Given the description of an element on the screen output the (x, y) to click on. 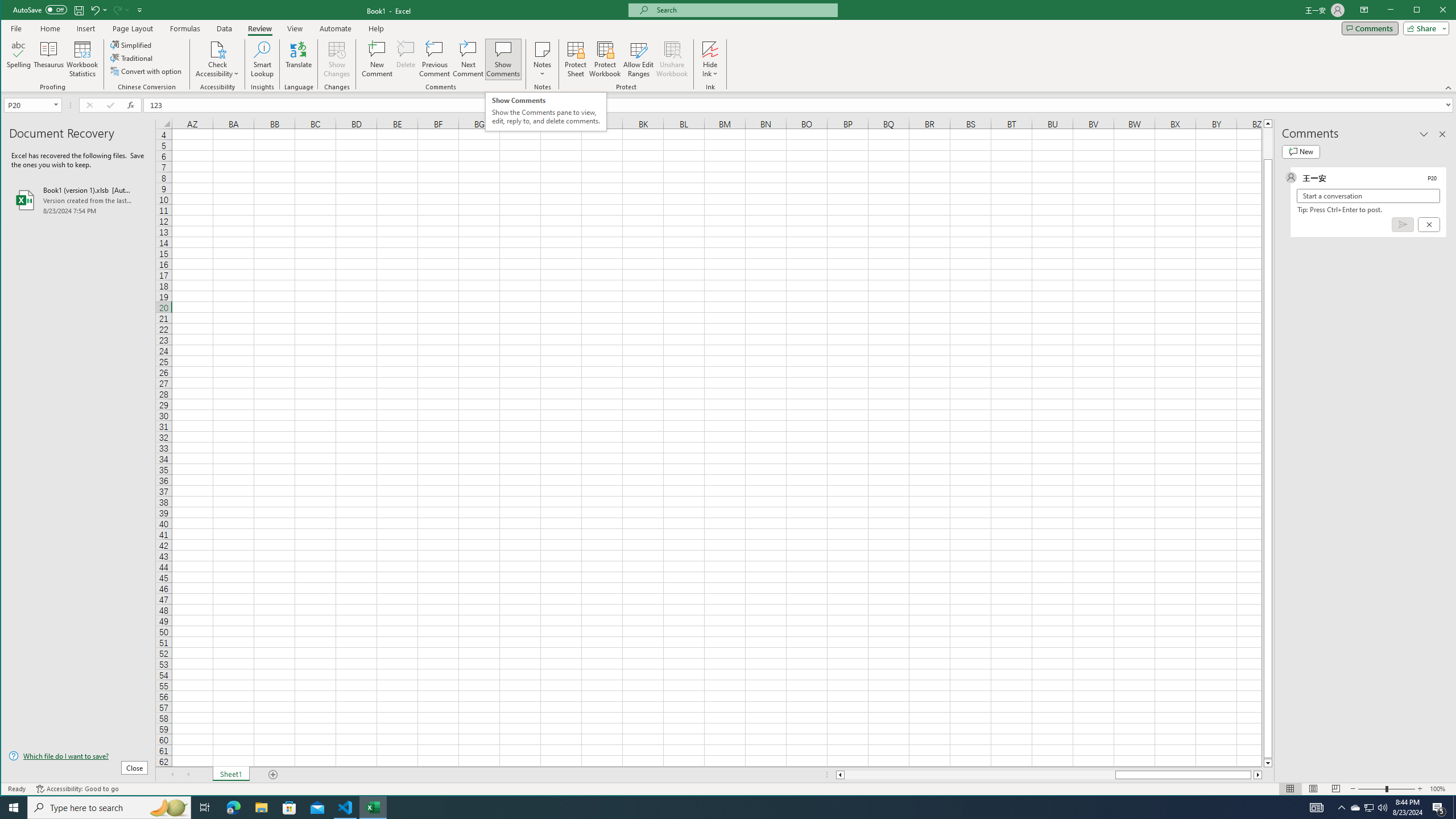
Previous Comment (434, 59)
Action Center, 5 new notifications (1439, 807)
Delete (405, 59)
Spelling... (18, 59)
